Given the description of an element on the screen output the (x, y) to click on. 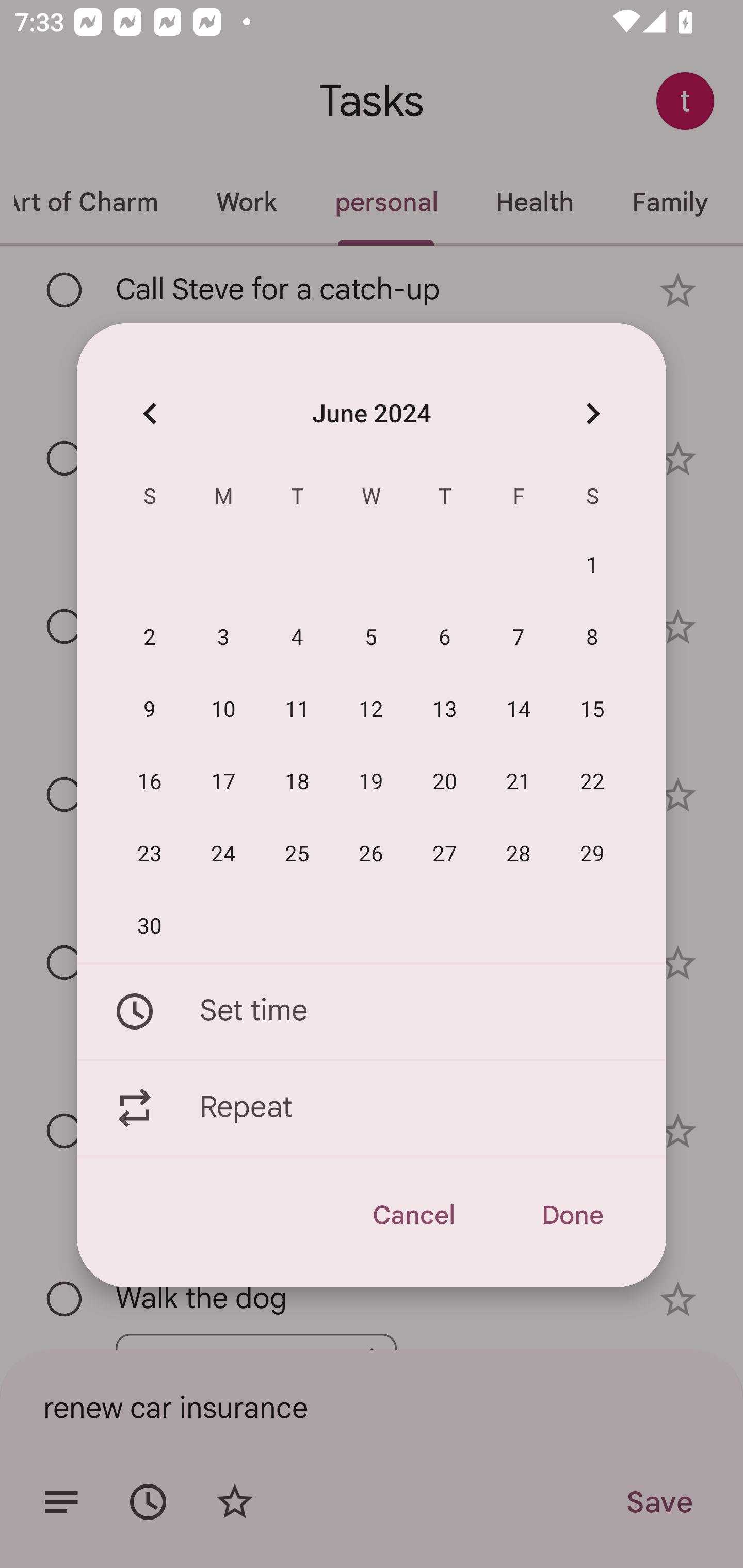
Previous month (149, 413)
Next month (592, 413)
1 01 June 2024 (592, 565)
2 02 June 2024 (149, 638)
3 03 June 2024 (223, 638)
4 04 June 2024 (297, 638)
5 05 June 2024 (370, 638)
6 06 June 2024 (444, 638)
7 07 June 2024 (518, 638)
8 08 June 2024 (592, 638)
9 09 June 2024 (149, 710)
10 10 June 2024 (223, 710)
11 11 June 2024 (297, 710)
12 12 June 2024 (370, 710)
13 13 June 2024 (444, 710)
14 14 June 2024 (518, 710)
15 15 June 2024 (592, 710)
16 16 June 2024 (149, 782)
17 17 June 2024 (223, 782)
18 18 June 2024 (297, 782)
19 19 June 2024 (370, 782)
20 20 June 2024 (444, 782)
21 21 June 2024 (518, 782)
22 22 June 2024 (592, 782)
23 23 June 2024 (149, 854)
24 24 June 2024 (223, 854)
25 25 June 2024 (297, 854)
26 26 June 2024 (370, 854)
27 27 June 2024 (444, 854)
28 28 June 2024 (518, 854)
29 29 June 2024 (592, 854)
30 30 June 2024 (149, 926)
Set time (371, 1011)
Repeat (371, 1108)
Cancel (412, 1215)
Done (571, 1215)
